Given the description of an element on the screen output the (x, y) to click on. 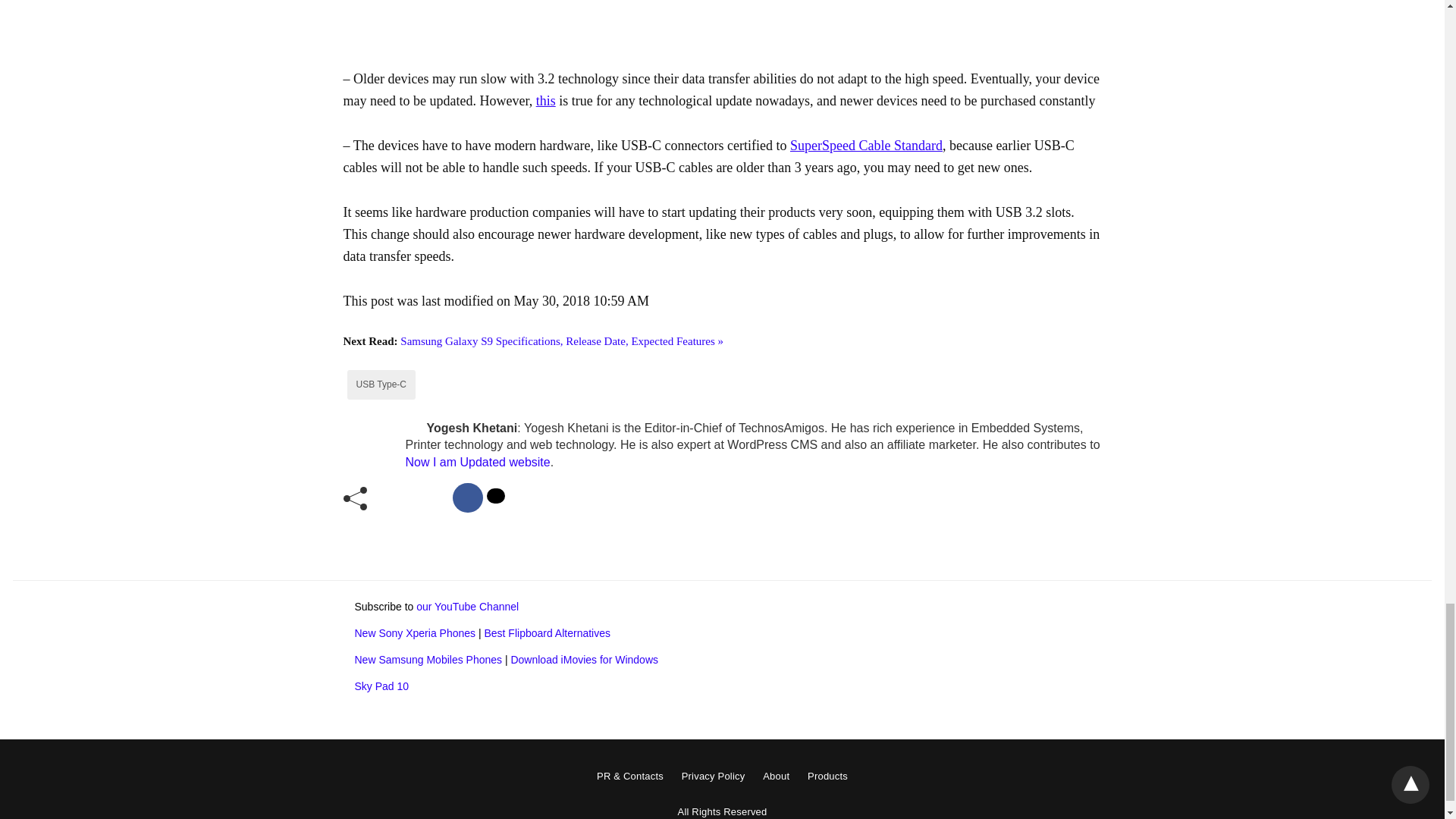
twitter share (495, 495)
this (545, 100)
our YouTube Channel (467, 606)
Privacy Policy (713, 776)
Sky Pad 10 (382, 686)
SuperSpeed Cable Standard (866, 145)
Now I am Updated website (477, 461)
New Sony Xperia Phones (415, 633)
Products (827, 776)
Download iMovies for Windows (584, 659)
